Given the description of an element on the screen output the (x, y) to click on. 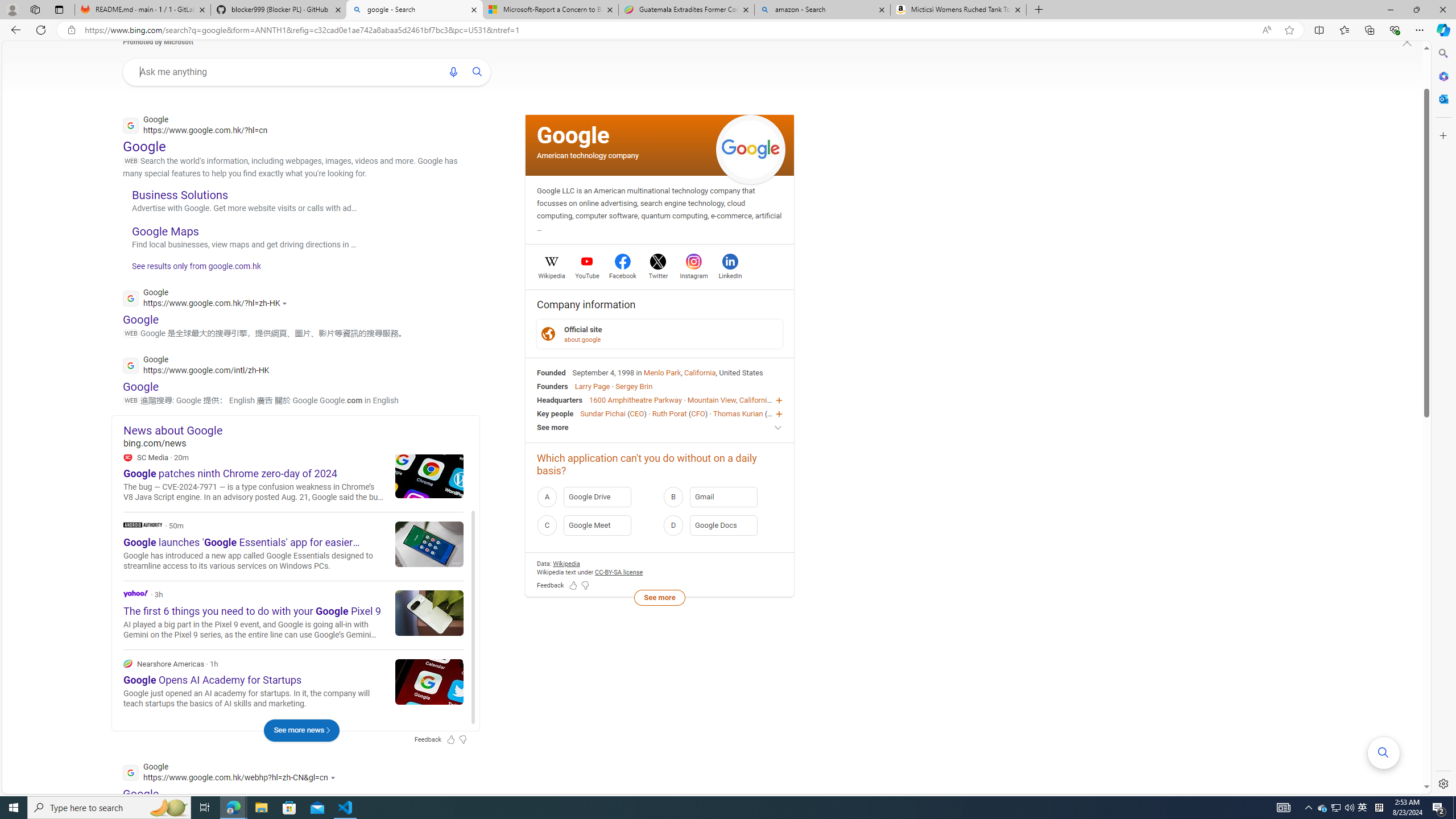
LinkedIn (729, 274)
D Google Docs (722, 525)
Address and search bar (669, 29)
google - Search (414, 9)
Dislike (413, 483)
Minimize (1390, 9)
See more news (301, 730)
Actions for this site (333, 777)
Founders (552, 385)
Read aloud this page (Ctrl+Shift+U) (1266, 29)
Nearshore Americas (127, 663)
Sundar Pichai (602, 412)
1600 Amphitheatre Parkway (635, 399)
Workspaces (34, 9)
